Given the description of an element on the screen output the (x, y) to click on. 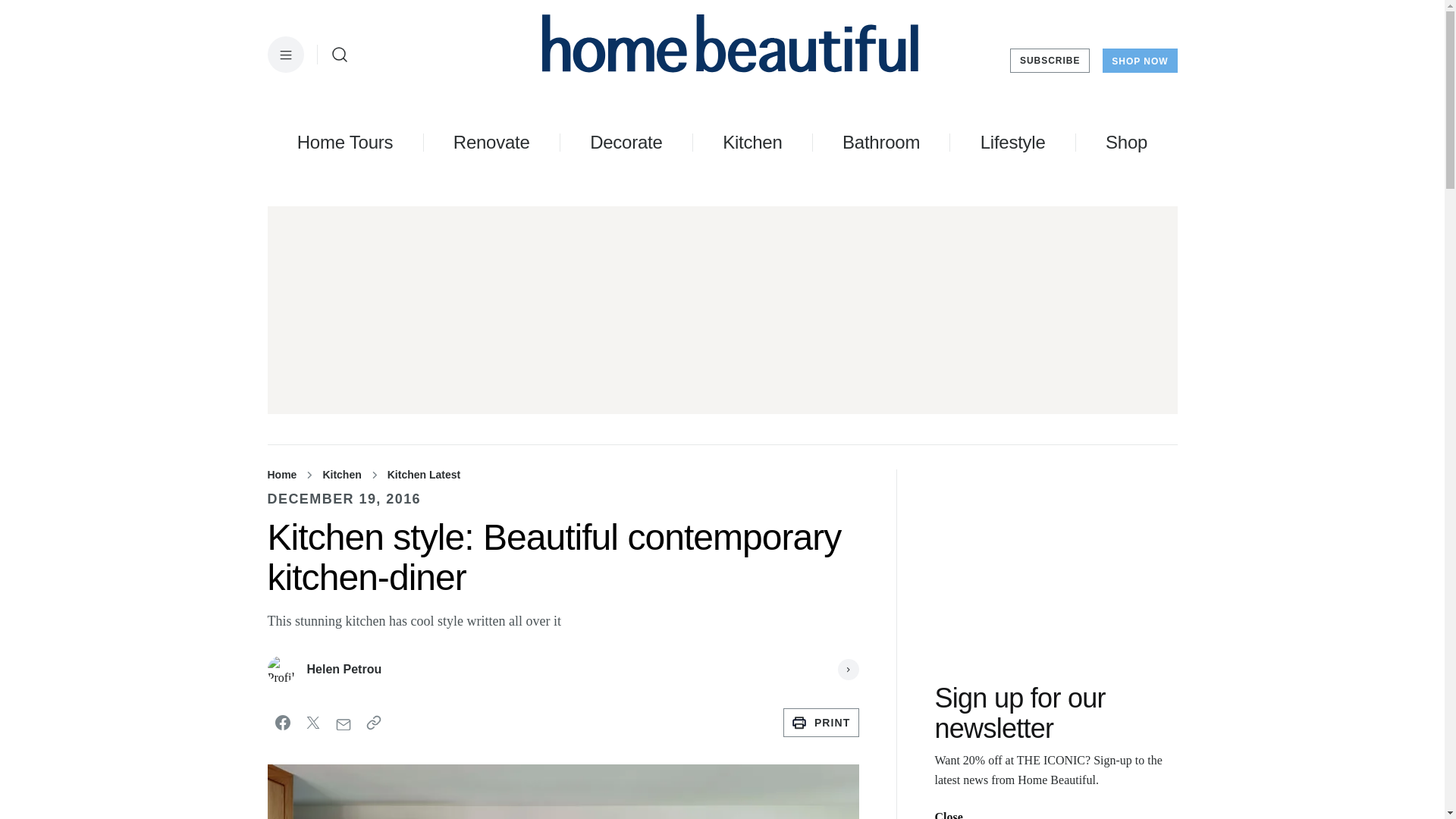
Home Tours (345, 141)
Kitchen (751, 141)
Renovate (490, 141)
SHOP NOW (1139, 60)
SUBSCRIBE (1049, 60)
Decorate (625, 141)
Lifestyle (1012, 141)
Bathroom (881, 141)
Shop (1126, 141)
